Given the description of an element on the screen output the (x, y) to click on. 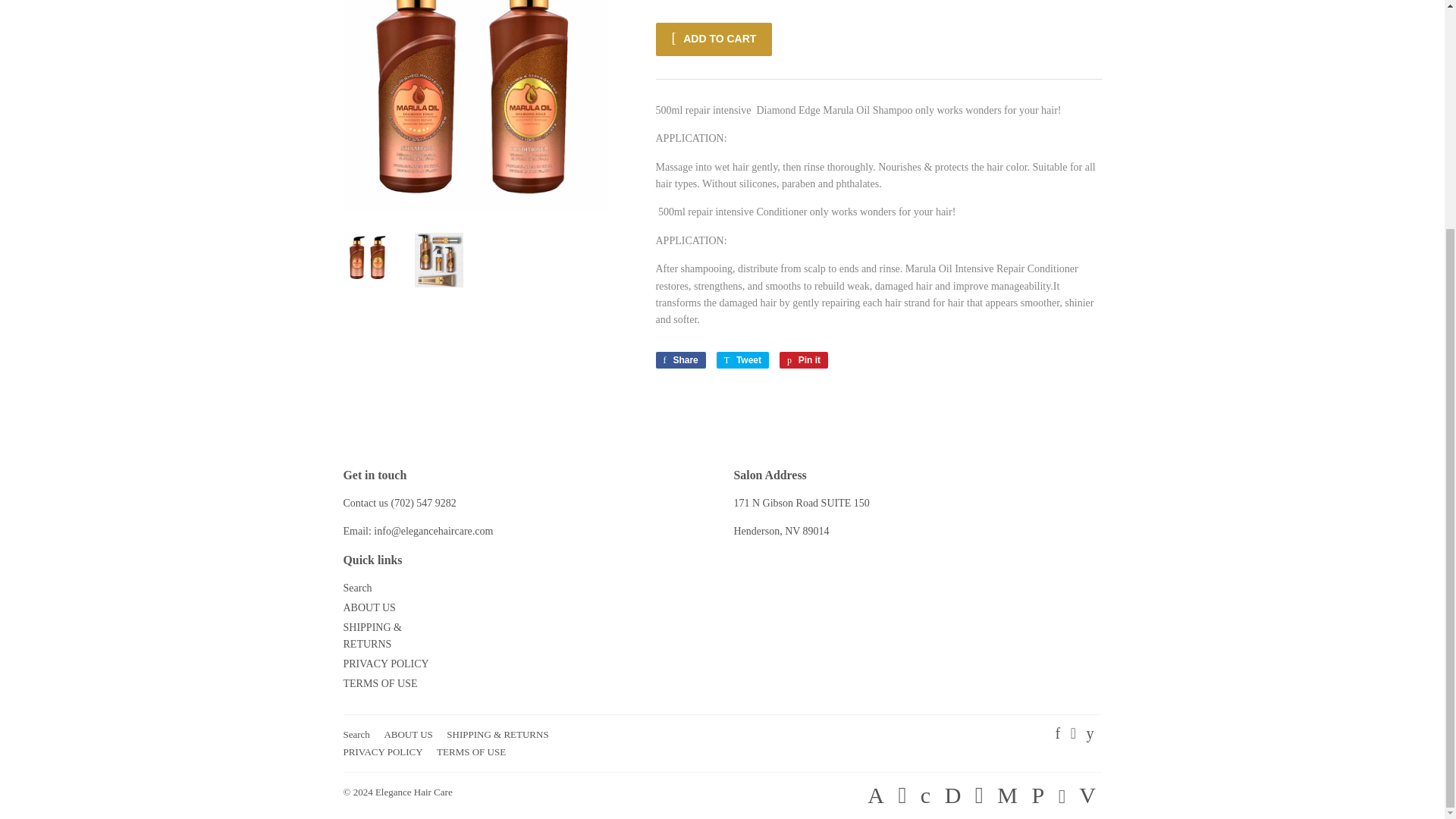
Pin on Pinterest (803, 360)
Tweet on Twitter (742, 360)
Share on Facebook (679, 360)
